Given the description of an element on the screen output the (x, y) to click on. 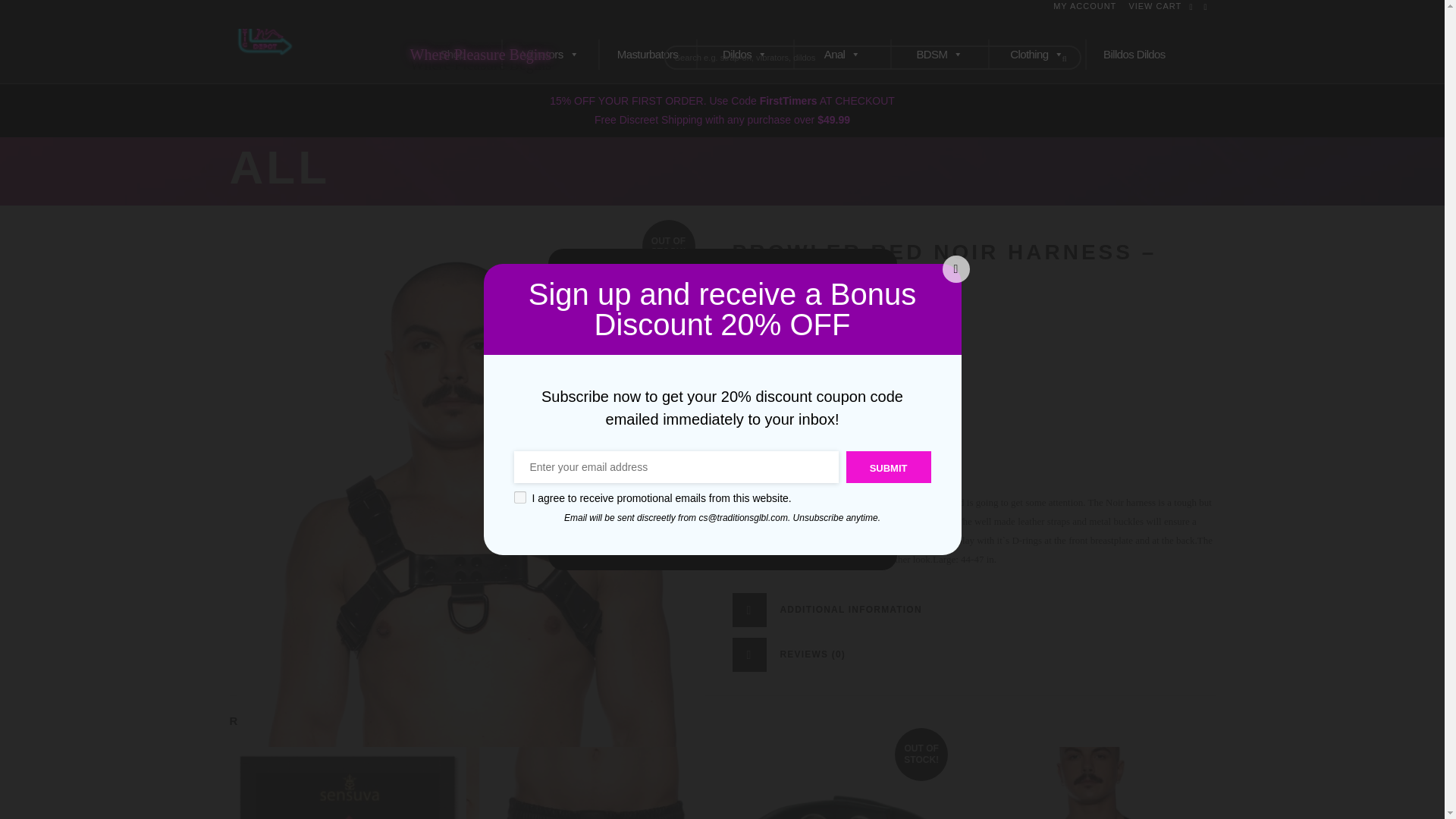
MY ACCOUNT (1084, 5)
Anal (841, 54)
Vibrators (550, 54)
on (519, 497)
Dildos (745, 54)
Shop (451, 54)
VIEW CART (1154, 5)
Masturbators (646, 54)
